Given the description of an element on the screen output the (x, y) to click on. 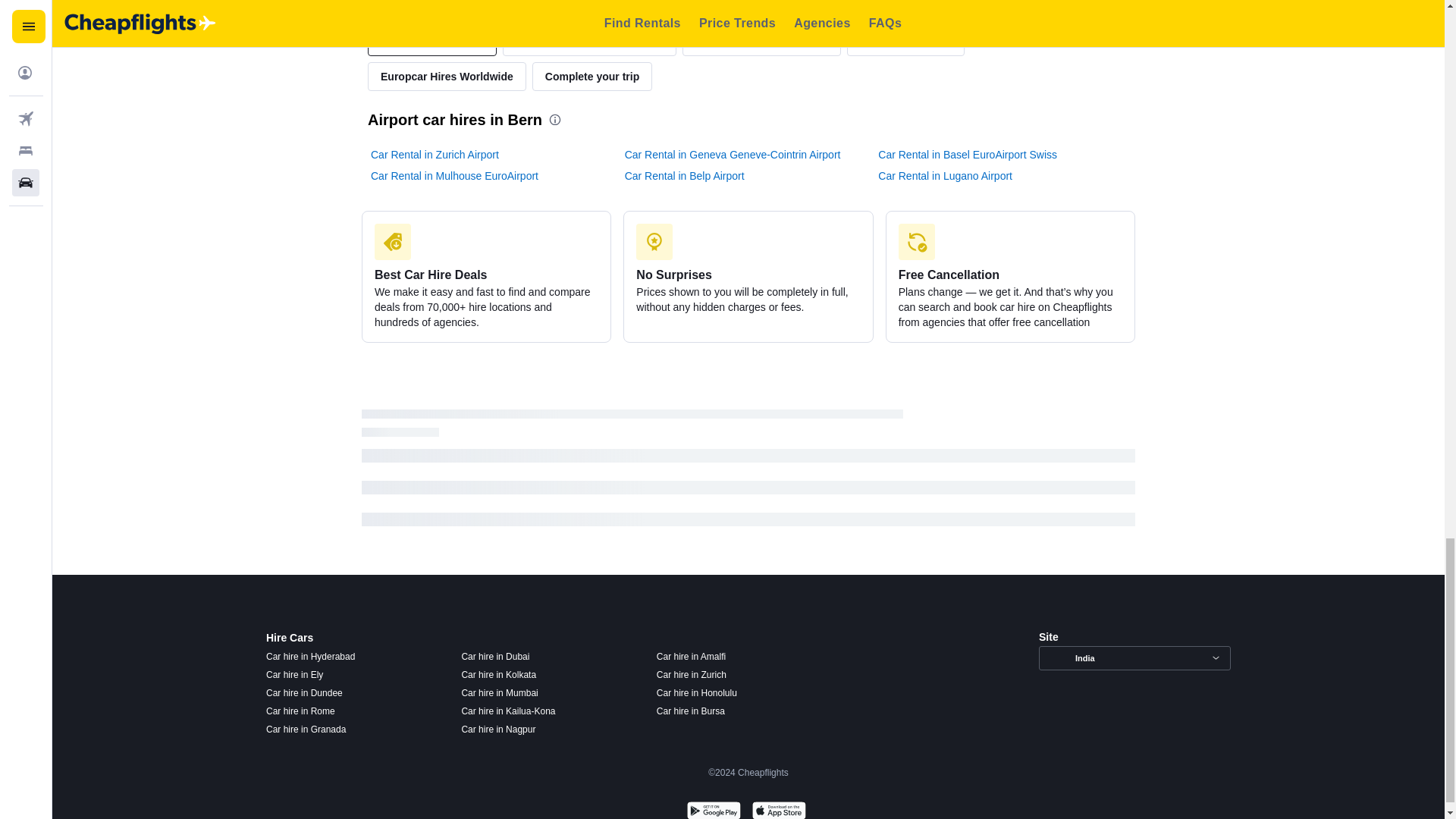
Other Car Hire Companies (761, 41)
Car Rental in Basel EuroAirport Swiss (967, 154)
Europcar Hires Worldwide (446, 76)
Car Hires in Cities (905, 41)
Download on the App Store (778, 808)
Hire Cars in Neighbourhoods (588, 41)
Complete your trip (592, 76)
Get it on Google Play (713, 808)
Car Rental in Zurich Airport (435, 154)
Car Rental in Mulhouse EuroAirport (454, 175)
